Given the description of an element on the screen output the (x, y) to click on. 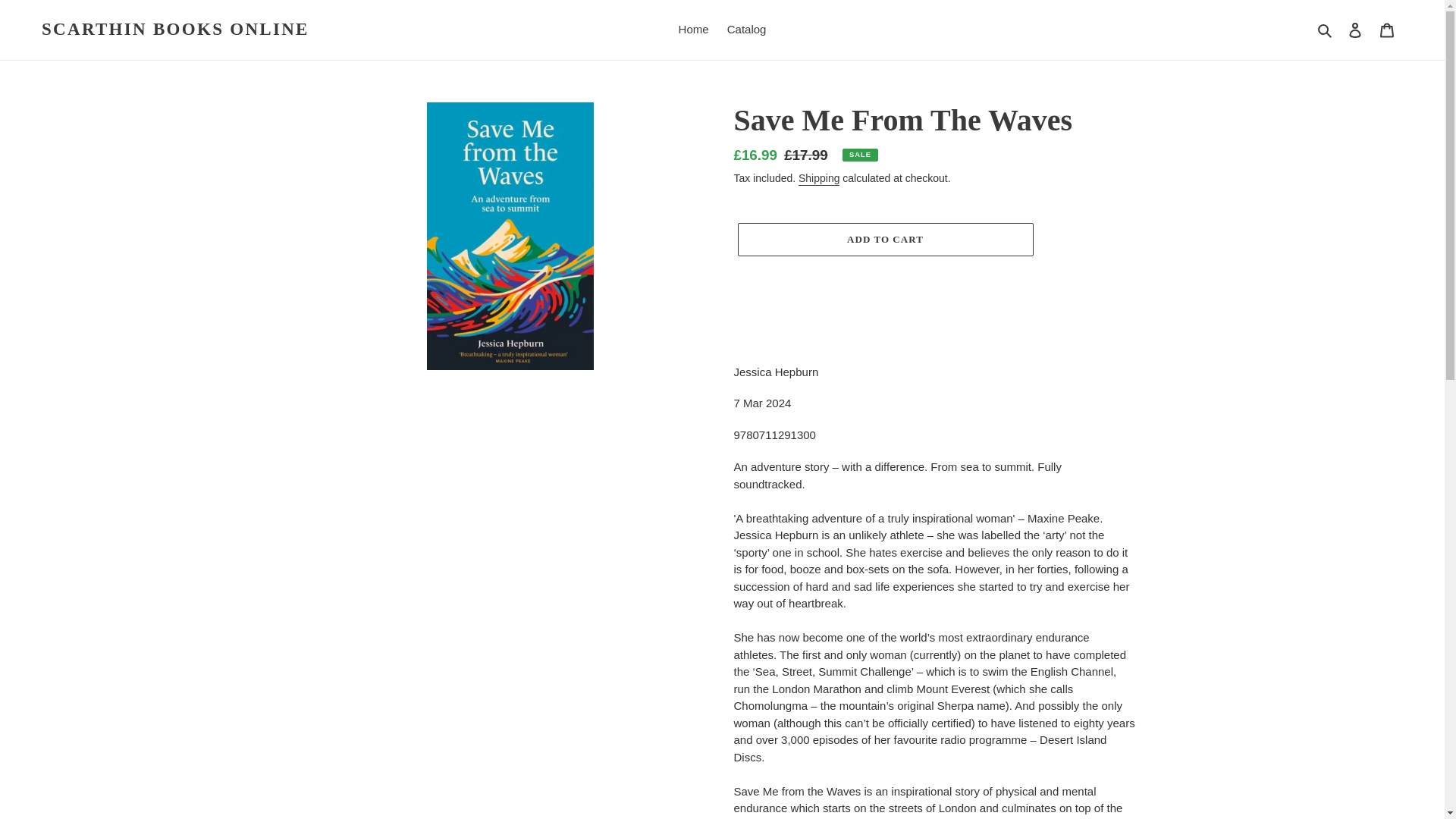
SCARTHIN BOOKS ONLINE (175, 29)
Search (1326, 29)
Cart (1387, 29)
Catalog (746, 29)
Shipping (818, 178)
Log in (1355, 29)
ADD TO CART (884, 239)
Home (693, 29)
